Given the description of an element on the screen output the (x, y) to click on. 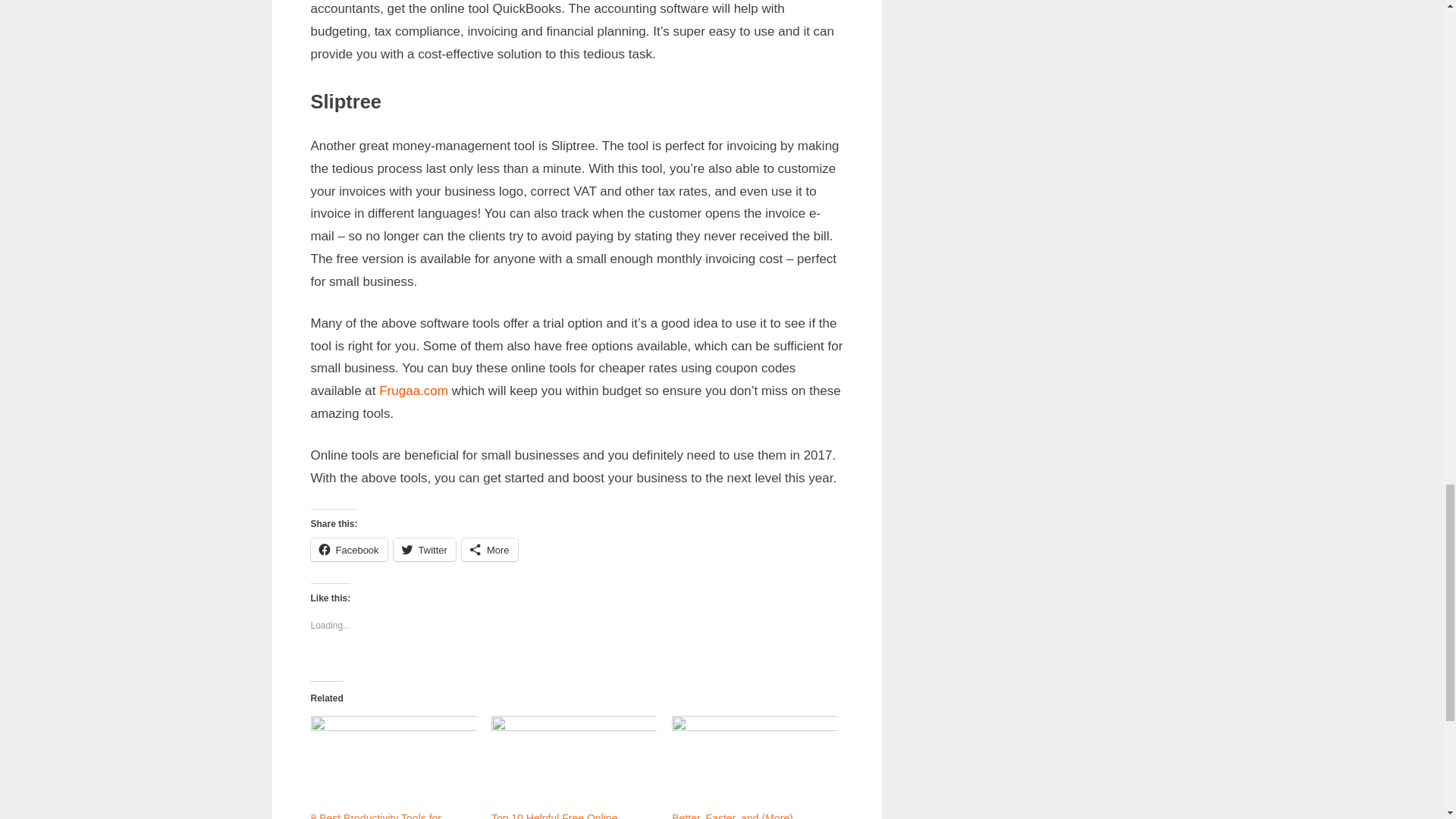
8 Best Productivity Tools for Freelancers (376, 815)
Top 10 Helpful Free Online Wireframe Tools (554, 815)
Top 10 Helpful Free Online Wireframe Tools (574, 762)
Click to share on Twitter (424, 549)
8 Best Productivity Tools for Freelancers (393, 762)
8 Best Productivity Tools for Freelancers (376, 815)
Frugaa.com (413, 391)
Twitter (424, 549)
Top 10 Helpful Free Online Wireframe Tools (554, 815)
Click to share on Facebook (349, 549)
